Given the description of an element on the screen output the (x, y) to click on. 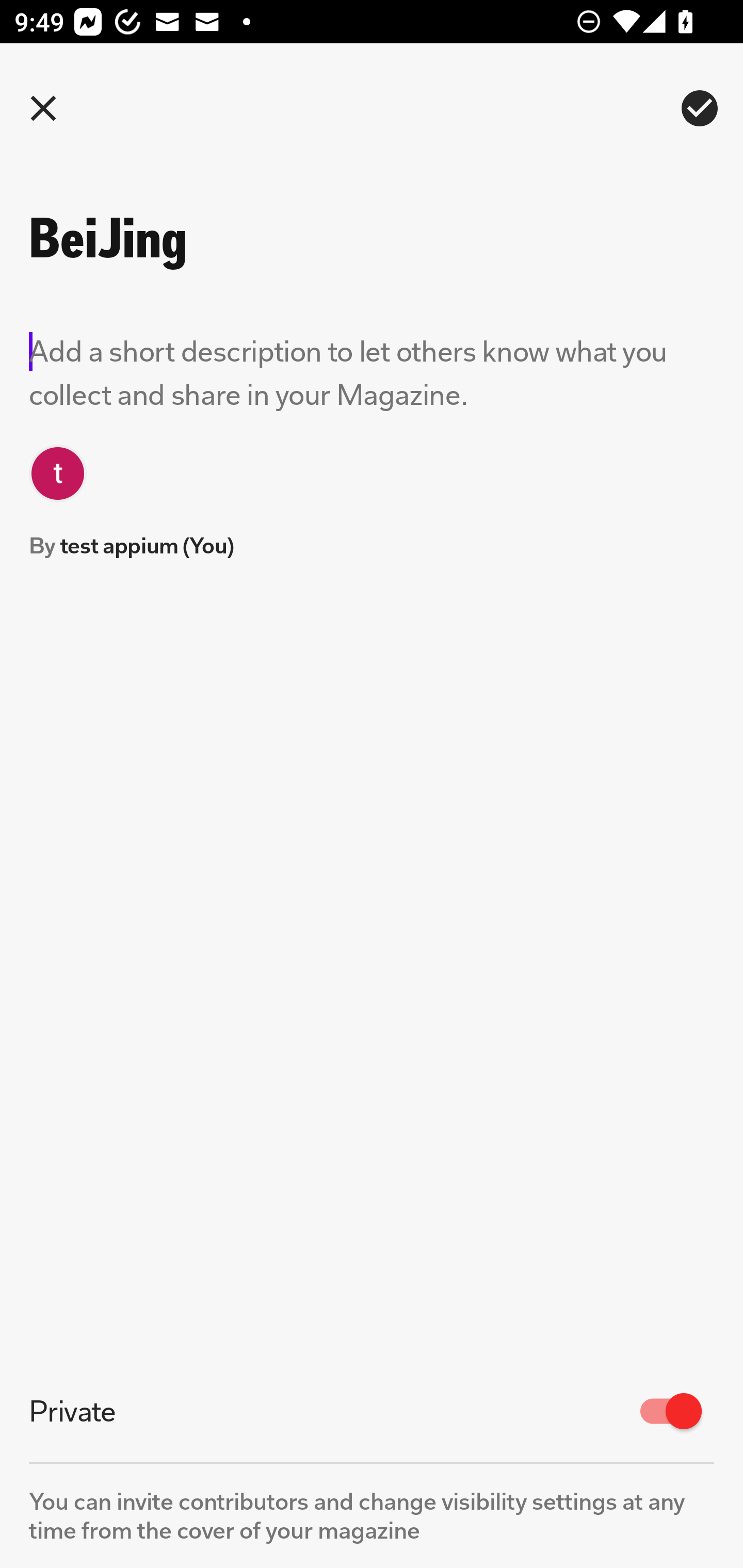
BeiJing (252, 238)
Private (371, 1411)
